Given the description of an element on the screen output the (x, y) to click on. 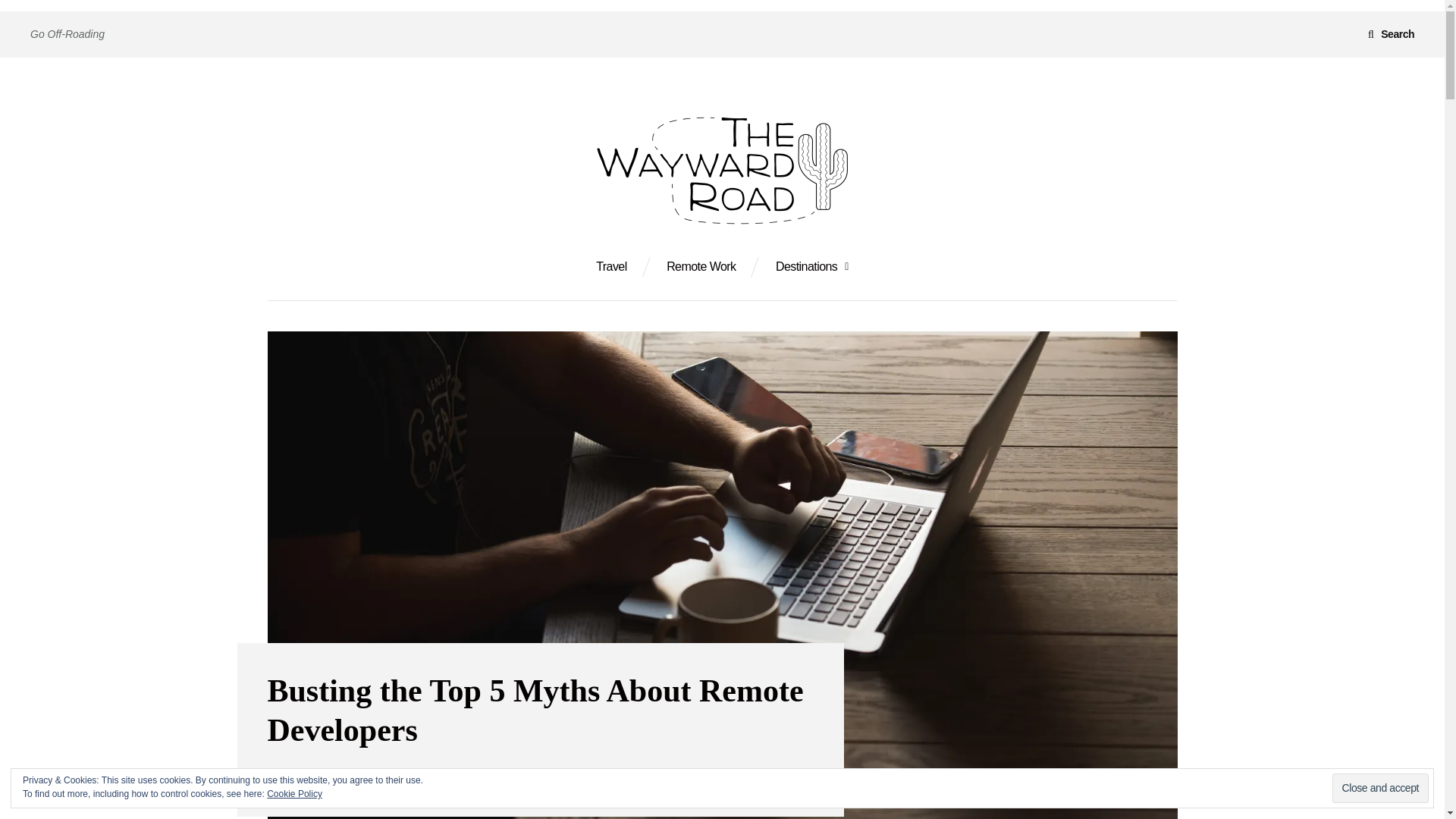
Search (1390, 33)
Travel (611, 266)
Destinations (812, 266)
Close and accept (1380, 788)
Cactus (297, 777)
The Wayward Road (384, 271)
Remote Work (700, 266)
